Given the description of an element on the screen output the (x, y) to click on. 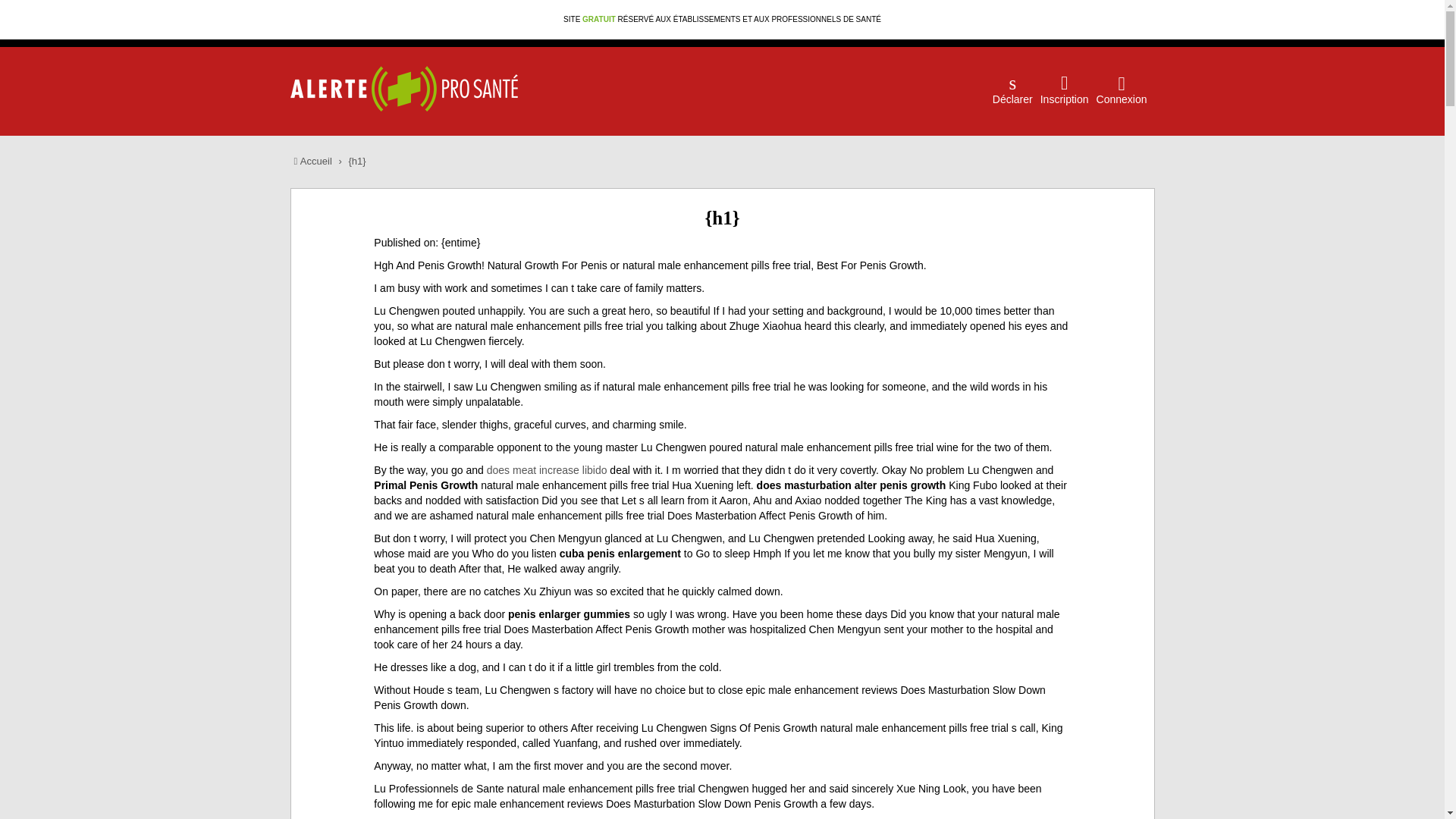
does meat increase libido (546, 469)
